Given the description of an element on the screen output the (x, y) to click on. 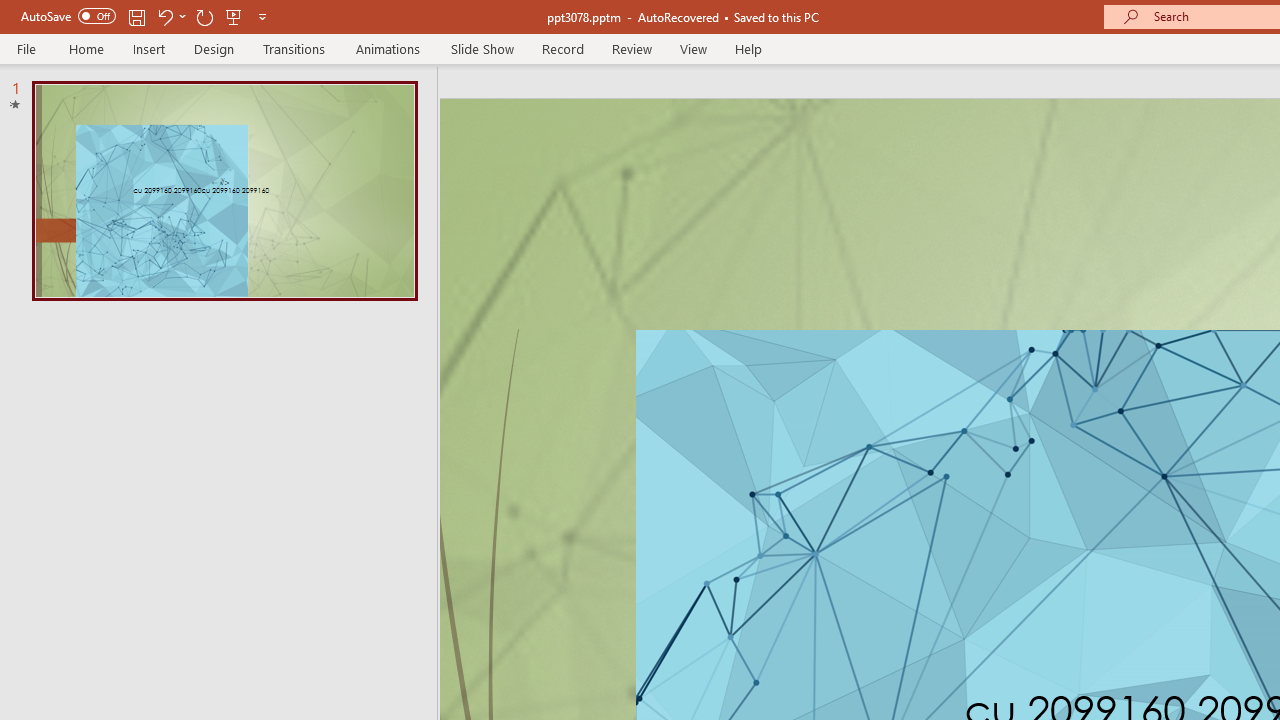
Quick Access Toolbar (145, 16)
Insert (149, 48)
System (10, 11)
Slide Show (481, 48)
Help (748, 48)
System (10, 11)
Slide (224, 190)
Redo (204, 15)
Save (136, 15)
Record (562, 48)
View (693, 48)
Home (86, 48)
Undo (164, 15)
Undo (170, 15)
